Given the description of an element on the screen output the (x, y) to click on. 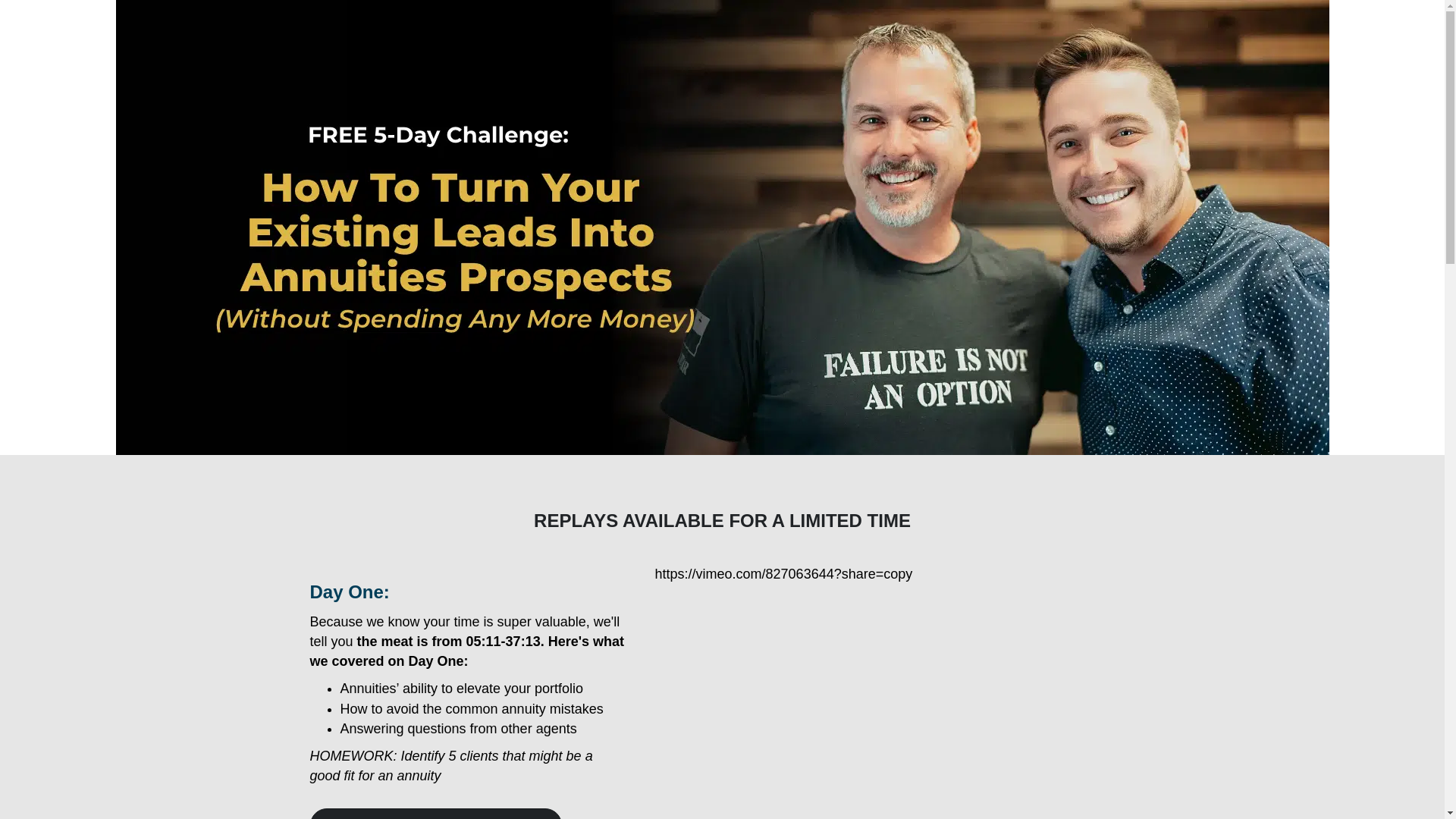
DOWNLOAD DAY ONE'S CHECKLIST (434, 813)
CHALLENGE-REPLAYS (721, 226)
